Given the description of an element on the screen output the (x, y) to click on. 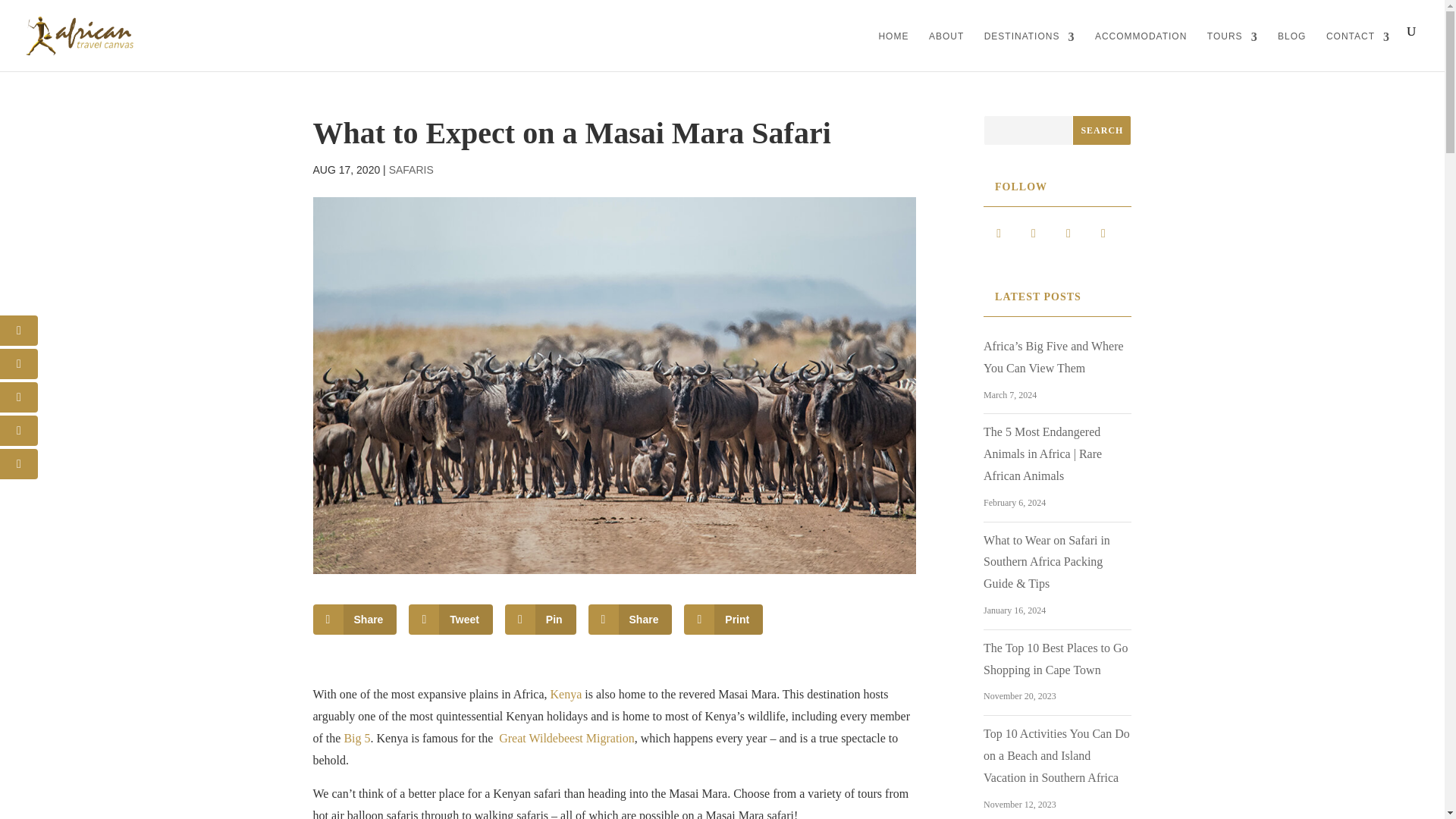
Search (1101, 130)
Tweet (451, 619)
Share (630, 619)
Pin (540, 619)
Kenya (566, 694)
HOME (892, 49)
Print (723, 619)
TOURS (1232, 49)
Share (354, 619)
BLOG (1292, 49)
ABOUT (945, 49)
CONTACT (1358, 49)
DESTINATIONS (1029, 49)
ACCOMMODATION (1140, 49)
SAFARIS (410, 169)
